Given the description of an element on the screen output the (x, y) to click on. 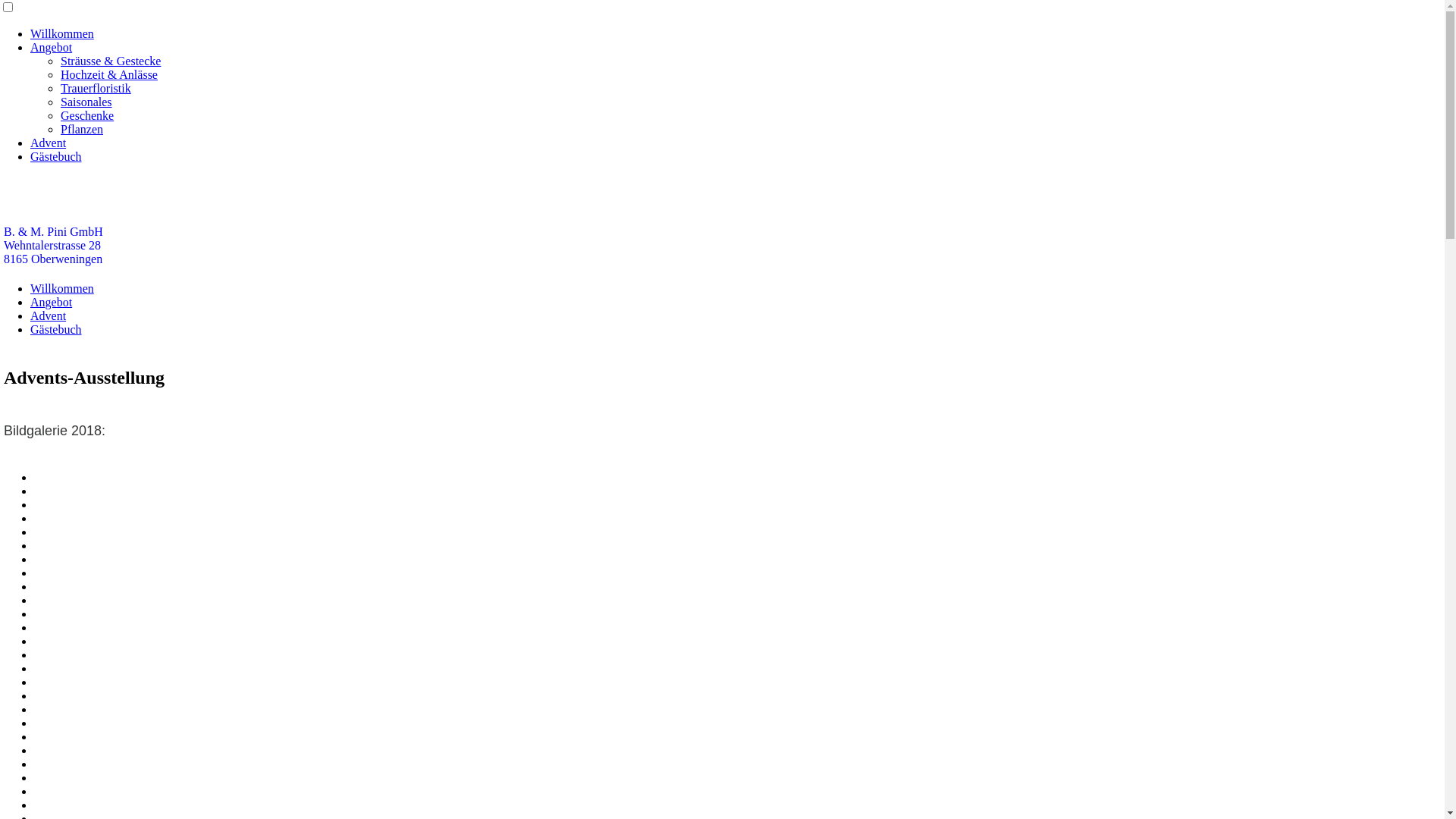
Advent Element type: text (47, 315)
Pflanzen Element type: text (81, 128)
Saisonales Element type: text (86, 101)
Advent Element type: text (47, 142)
Angebot Element type: text (51, 301)
Willkommen Element type: text (62, 33)
Geschenke Element type: text (86, 115)
Angebot Element type: text (51, 46)
Willkommen Element type: text (62, 288)
Trauerfloristik Element type: text (95, 87)
B. & M. Pini GmbH
Wehntalerstrasse 28
8165 Oberweningen Element type: text (53, 245)
